Given the description of an element on the screen output the (x, y) to click on. 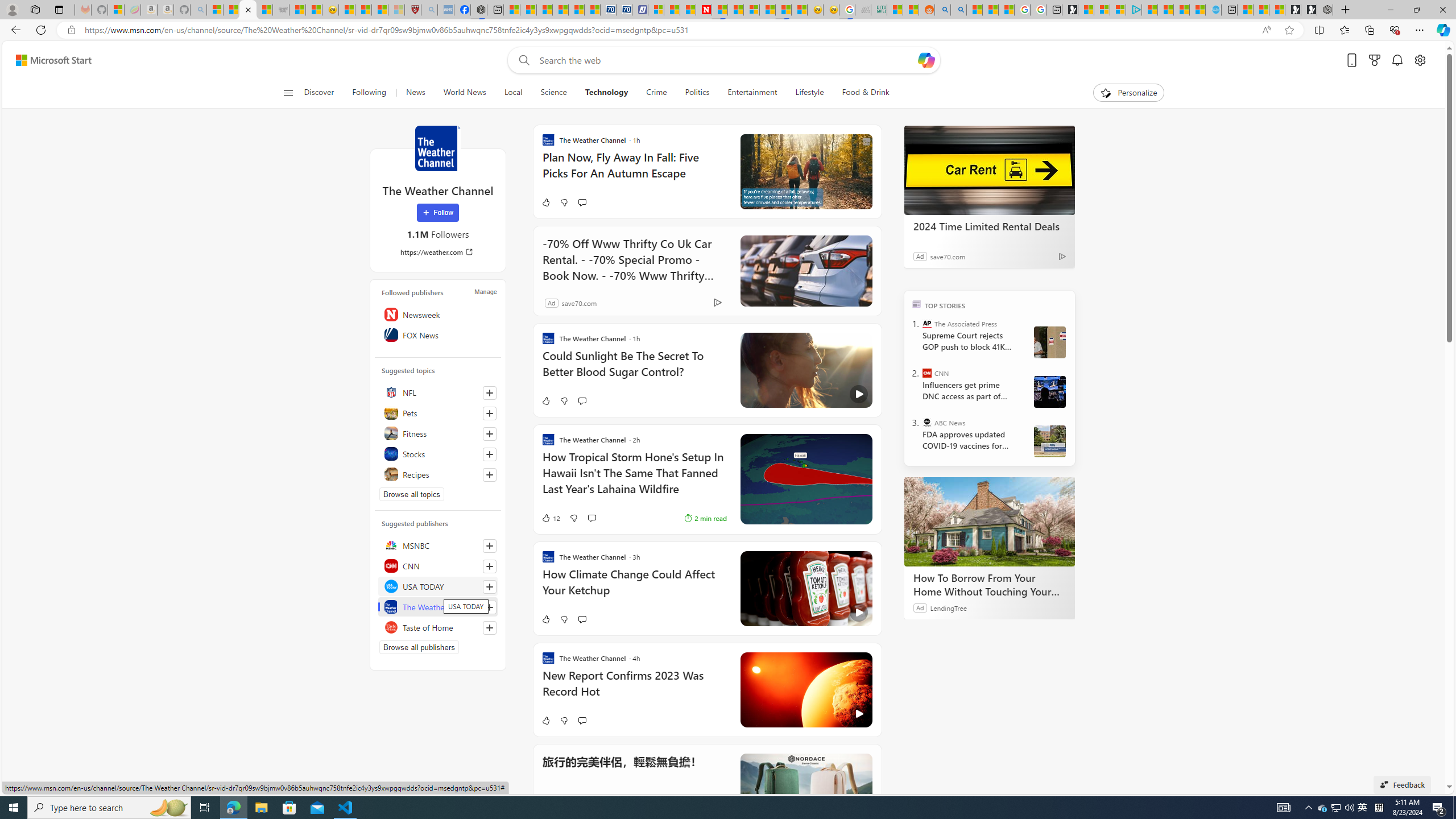
Could Sunlight Be The Secret To Better Blood Sugar Control? (633, 369)
